Given the description of an element on the screen output the (x, y) to click on. 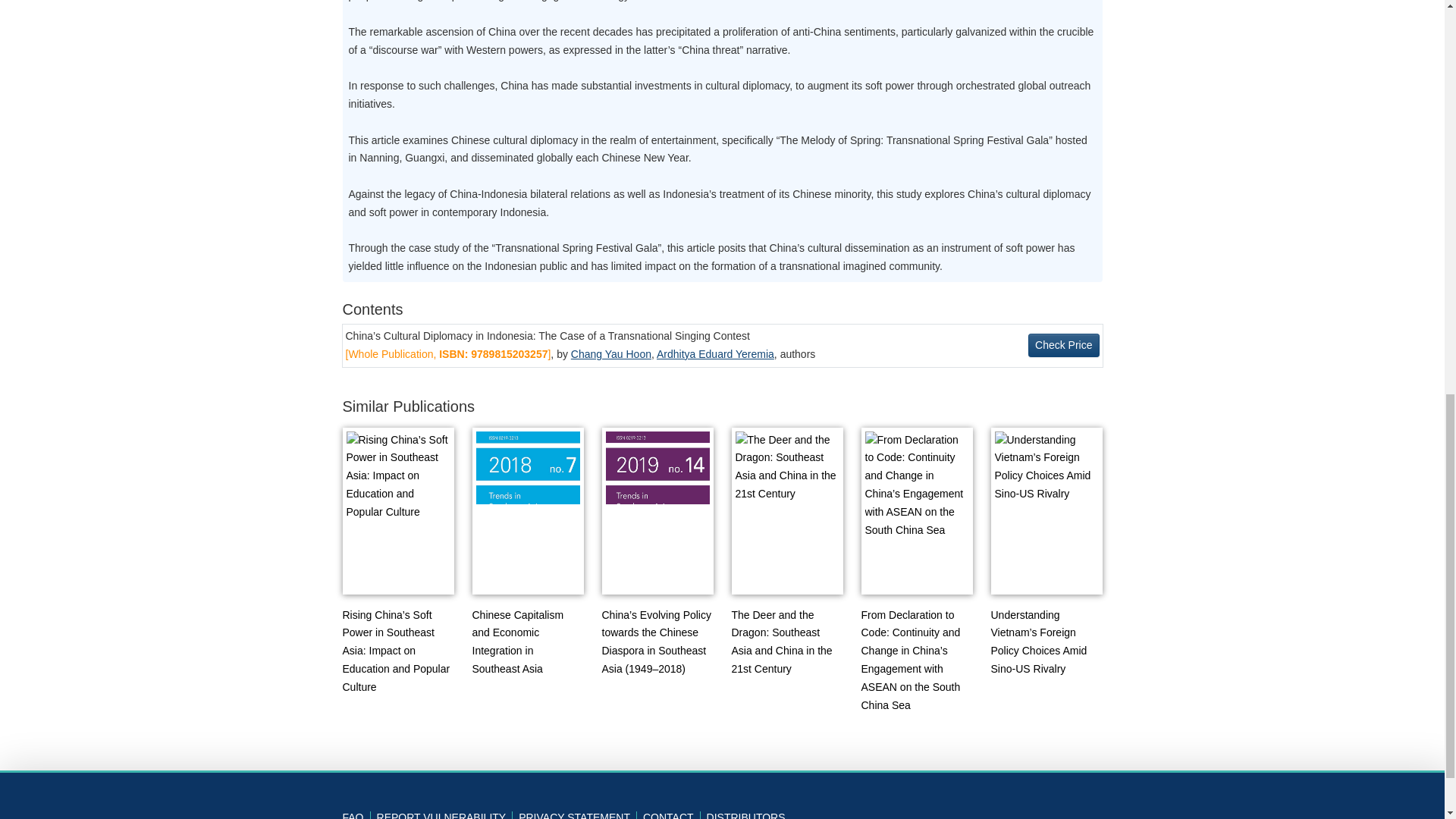
REPORT VULNERABILITY (445, 815)
FAQ (356, 815)
DISTRIBUTORS (746, 815)
CONTACT (671, 815)
Check Price (1063, 345)
Ardhitya Eduard Yeremia (715, 354)
PRIVACY STATEMENT (577, 815)
Chang Yau Hoon (610, 354)
